Given the description of an element on the screen output the (x, y) to click on. 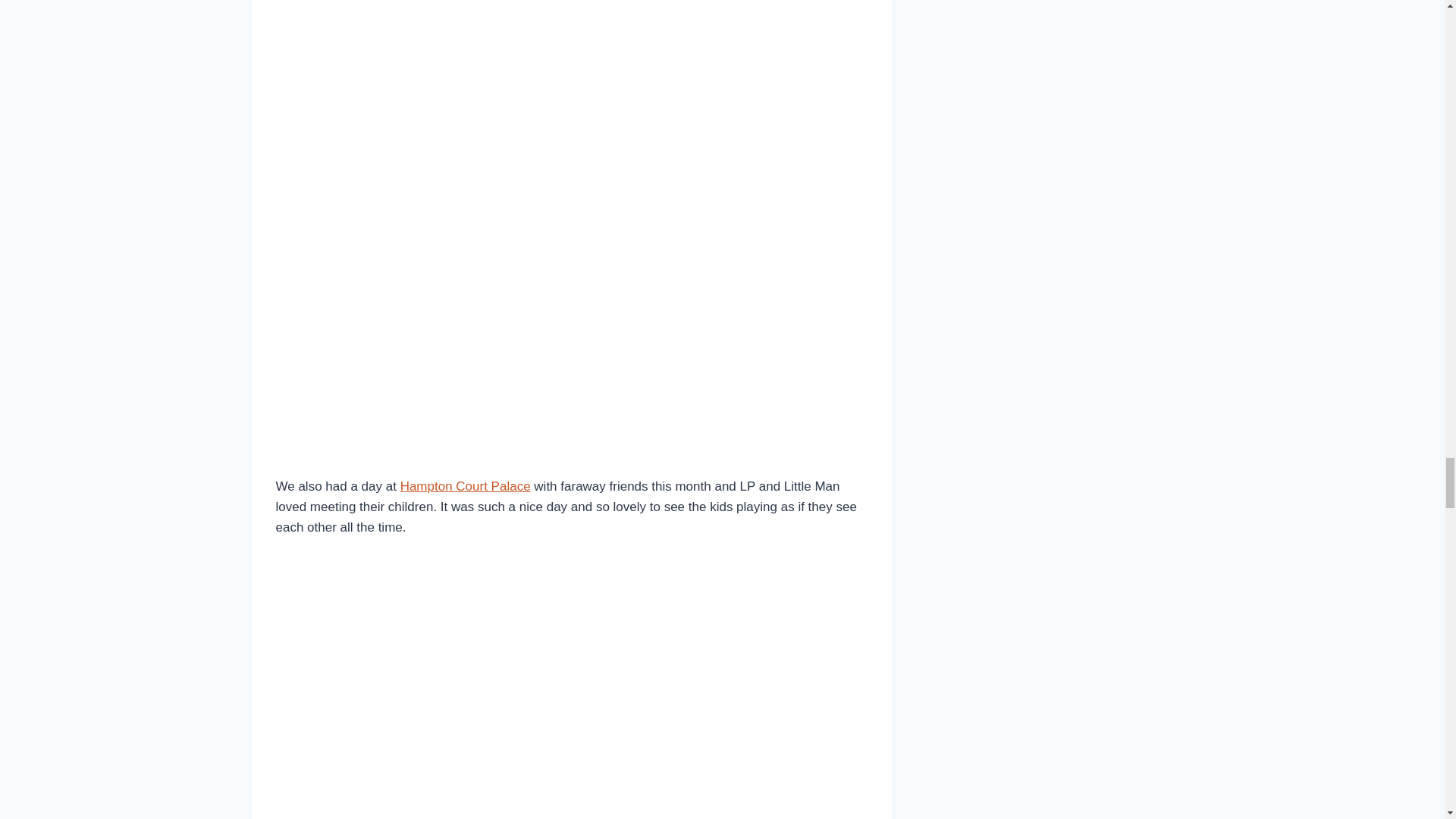
Hampton Court Palace (465, 486)
